Given the description of an element on the screen output the (x, y) to click on. 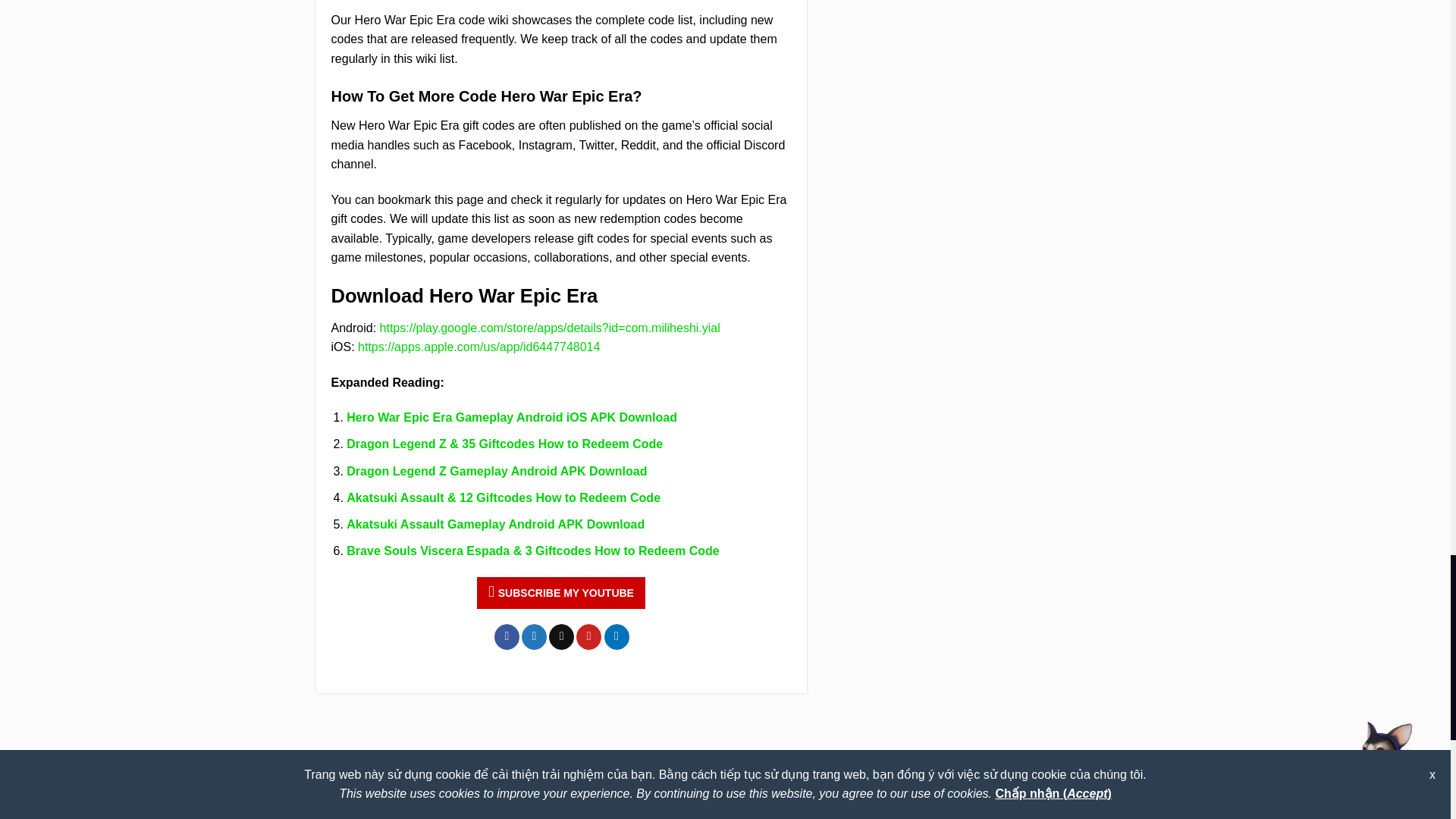
SUBSCRIBE MY YOUTUBE (561, 593)
Subscribe My Youtube (561, 593)
Dragon Legend Z Gameplay Android APK Download (496, 471)
Email to a Friend (560, 637)
Hero War Epic Era Gameplay Android iOS APK Download (511, 417)
Share on Facebook (507, 637)
Pin on Pinterest (588, 637)
Akatsuki Assault Gameplay Android APK Download (495, 523)
Share on Twitter (534, 637)
